Given the description of an element on the screen output the (x, y) to click on. 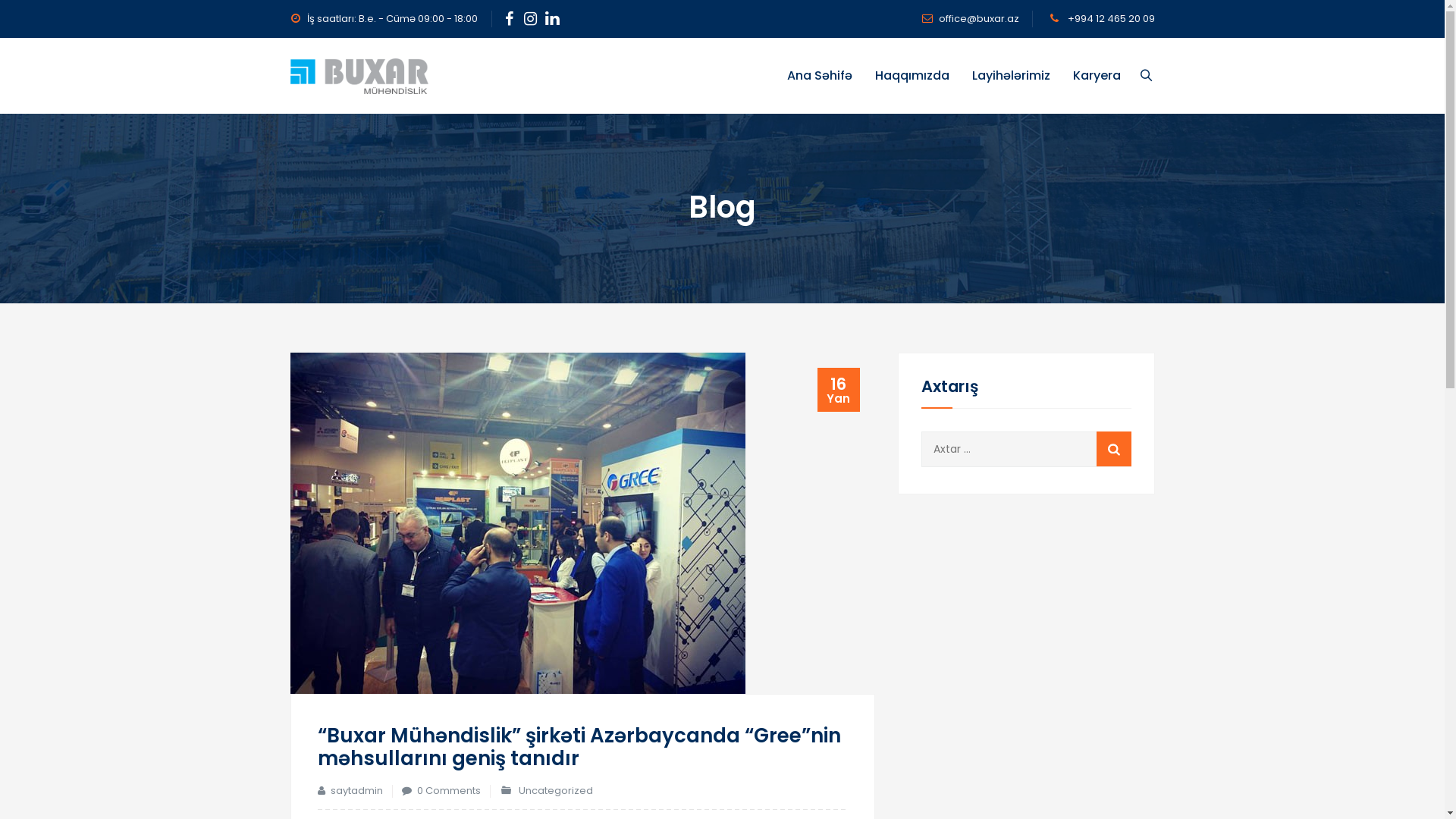
0 Comments Element type: text (448, 790)
Uncategorized Element type: text (555, 790)
saytadmin Element type: text (356, 790)
+994 12 465 20 09 Element type: text (1109, 18)
marka360 Element type: text (1127, 791)
Axtar Element type: text (1113, 448)
Karyera Element type: text (418, 690)
Karyera Element type: text (1096, 75)
office@buxar.az Element type: text (978, 18)
